Given the description of an element on the screen output the (x, y) to click on. 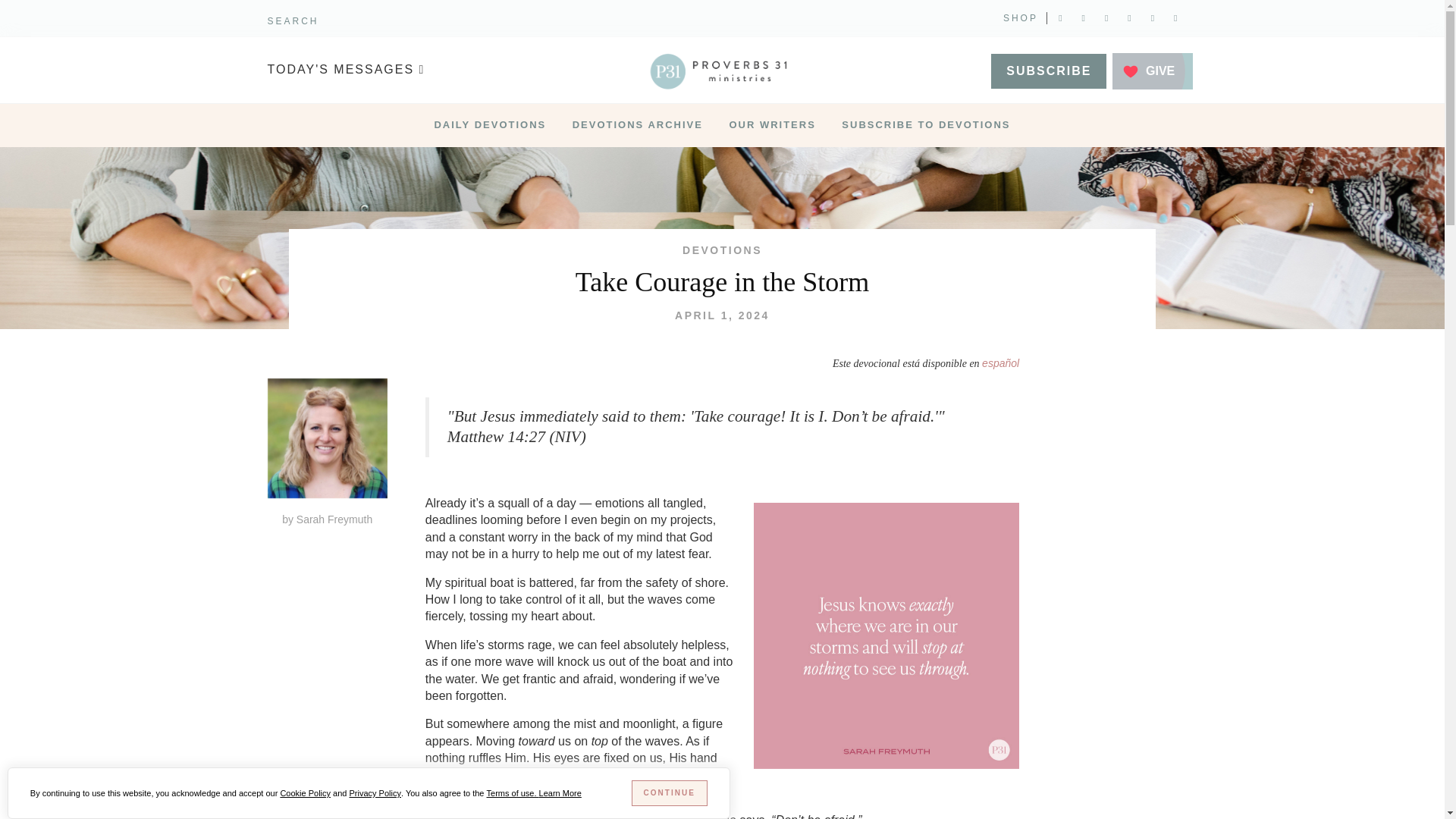
TODAY'S MESSAGES (405, 69)
Learn More (559, 792)
SUBSCRIBE TO DEVOTIONS (925, 125)
SEARCH (292, 20)
OUR WRITERS (772, 125)
Cookie Policy (304, 792)
DEVOTIONS ARCHIVE (637, 125)
SHOP (1020, 18)
Privacy Policy (374, 792)
Pinterest (1128, 18)
DAILY DEVOTIONS (489, 125)
Proverbs 31 Ministries Home (722, 71)
